Given the description of an element on the screen output the (x, y) to click on. 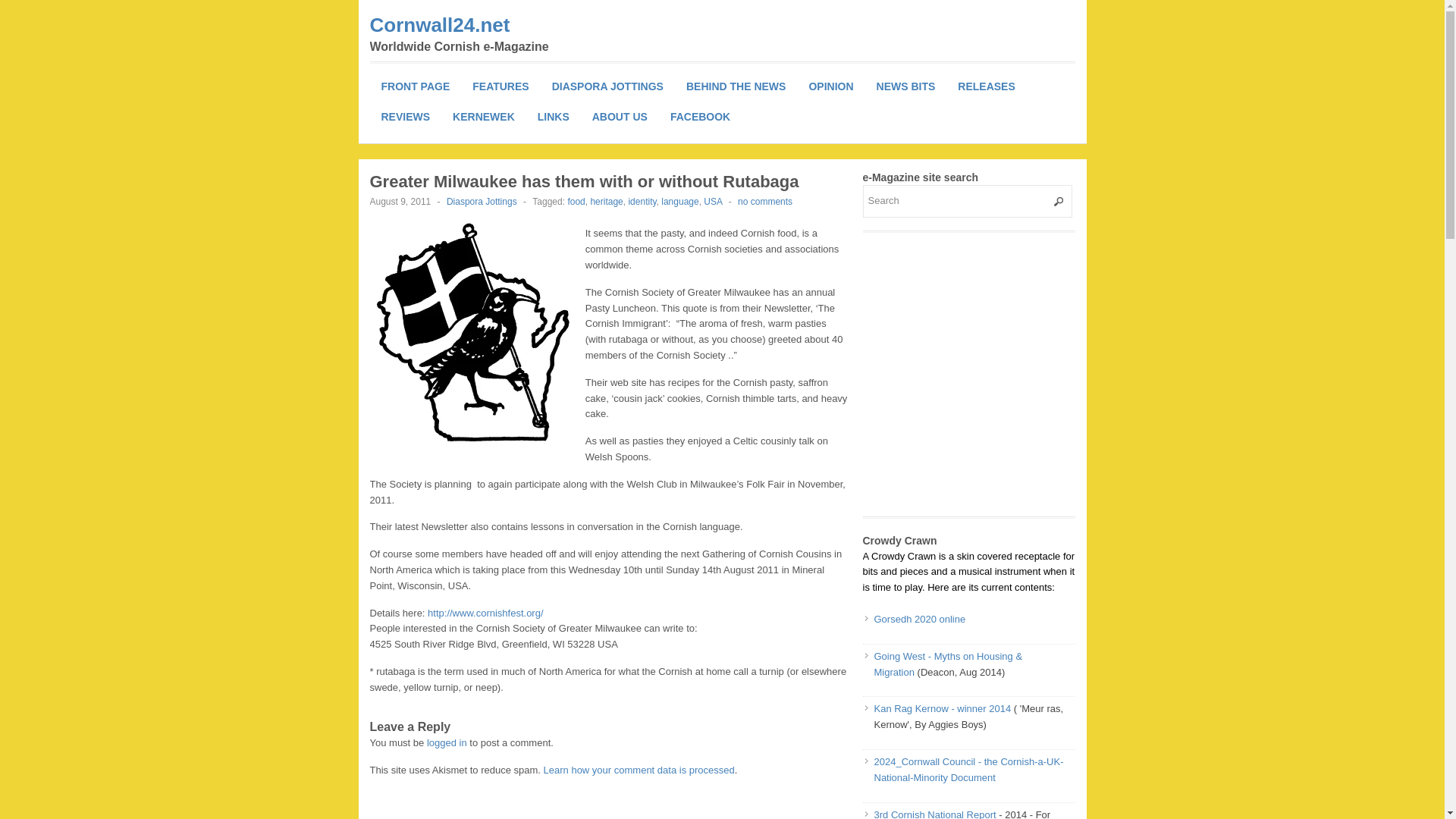
Gorsedh 2020 online (919, 618)
Search (967, 201)
language (679, 201)
identity (641, 201)
Cornwall24.net (440, 24)
RELEASES (986, 86)
ABOUT US (619, 116)
FEATURES (500, 86)
logged in (446, 742)
REVIEWS (405, 116)
